Given the description of an element on the screen output the (x, y) to click on. 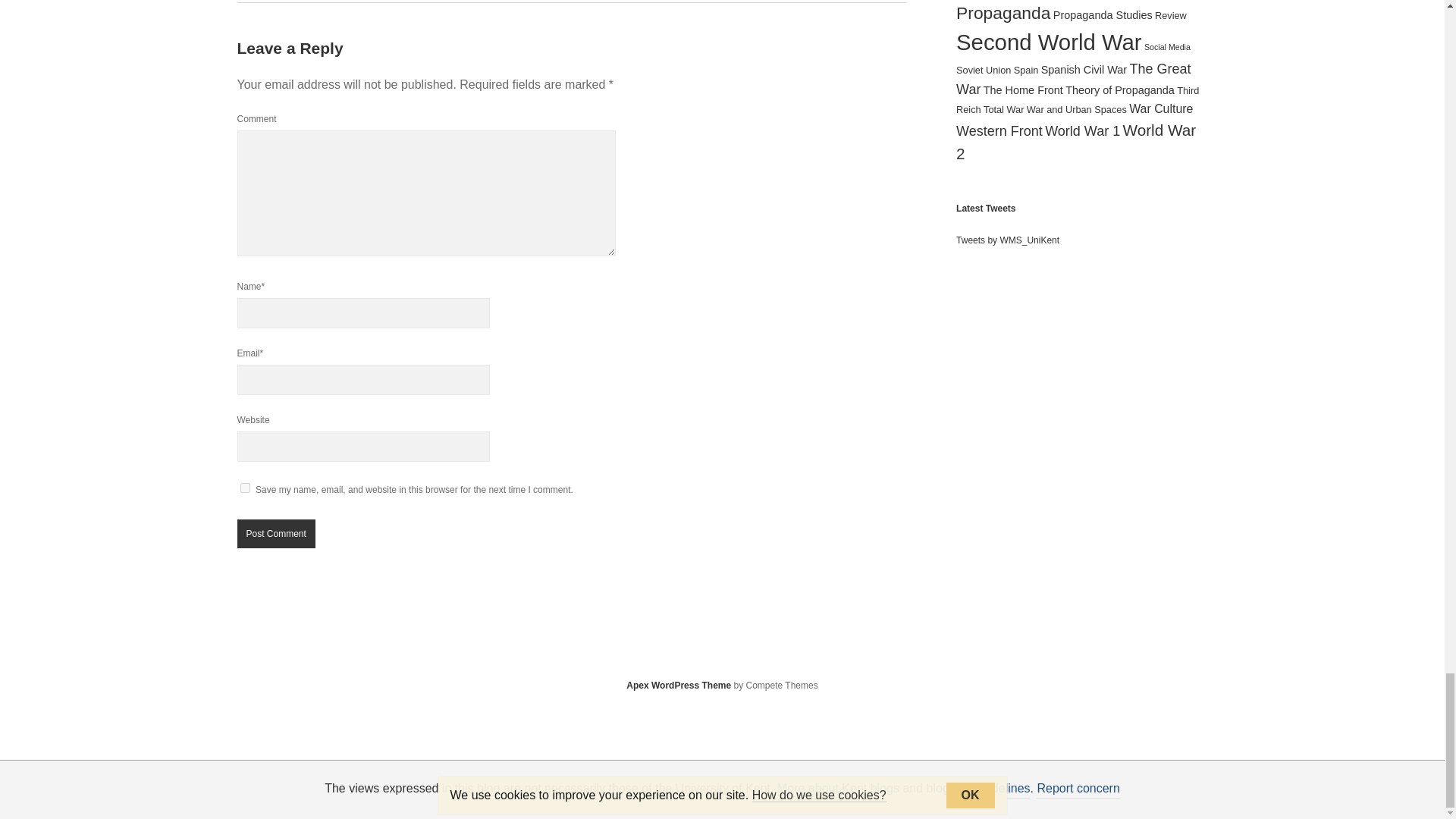
Post Comment (274, 533)
Post Comment (274, 533)
yes (244, 488)
